Given the description of an element on the screen output the (x, y) to click on. 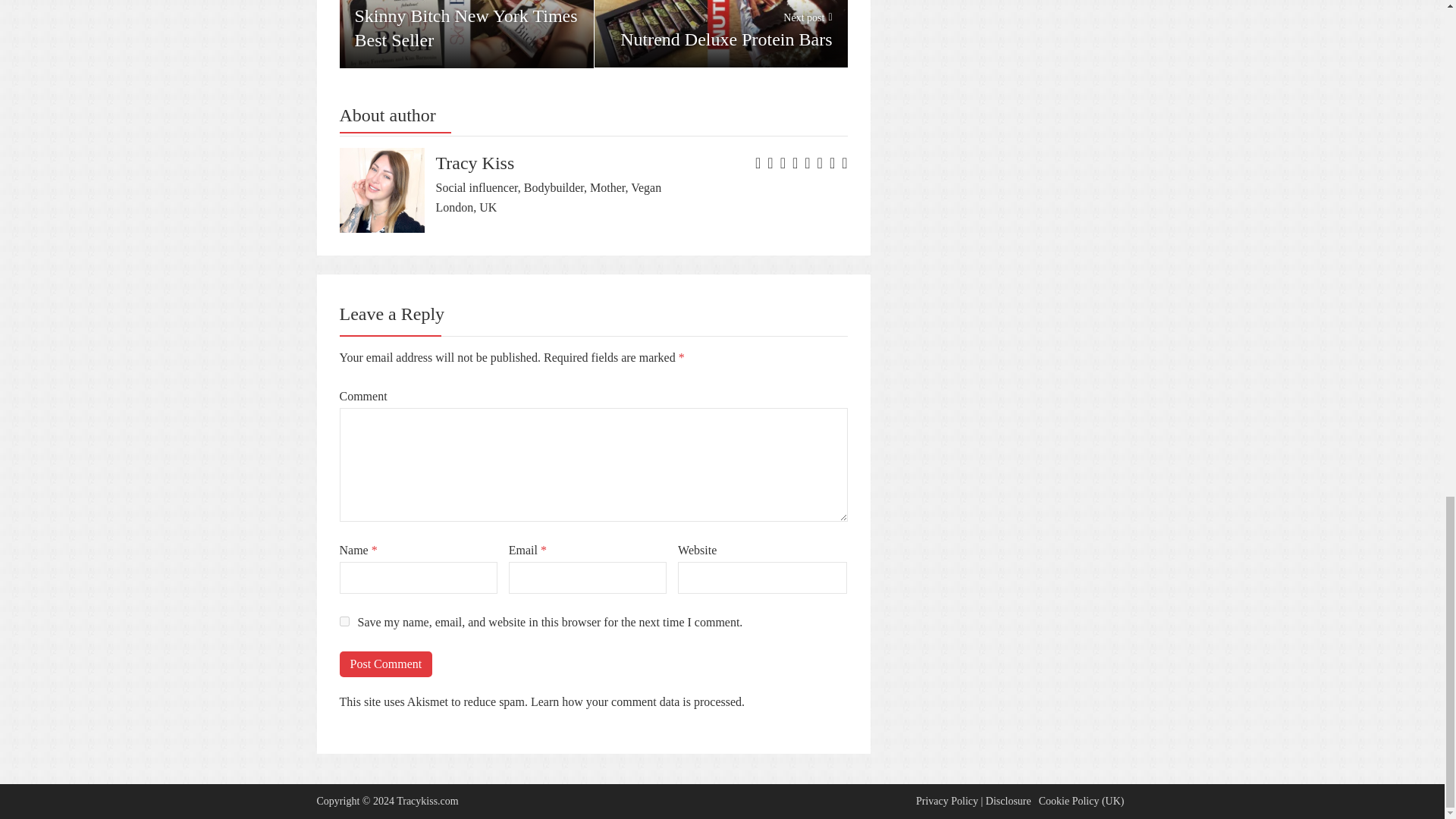
Post Comment (385, 664)
yes (466, 33)
